Given the description of an element on the screen output the (x, y) to click on. 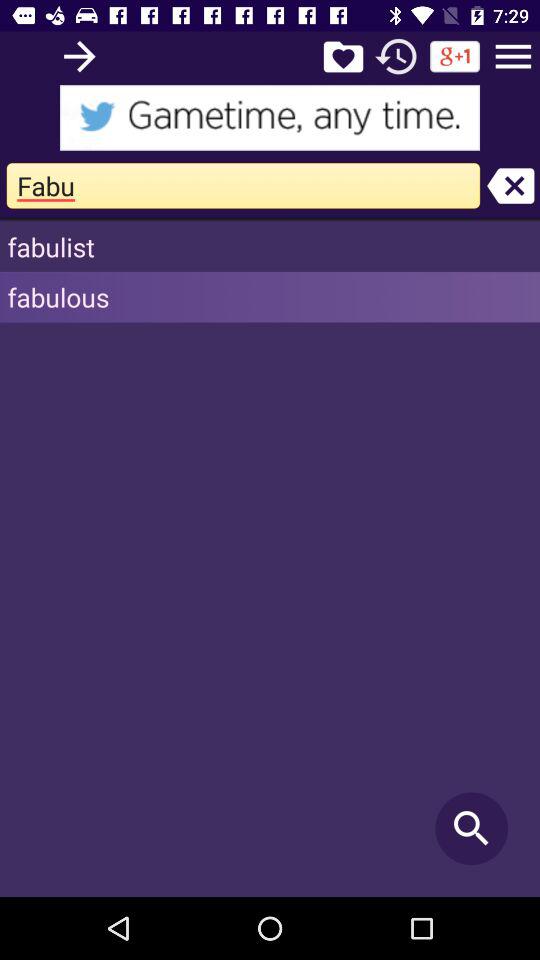
select advertisement (270, 117)
